Given the description of an element on the screen output the (x, y) to click on. 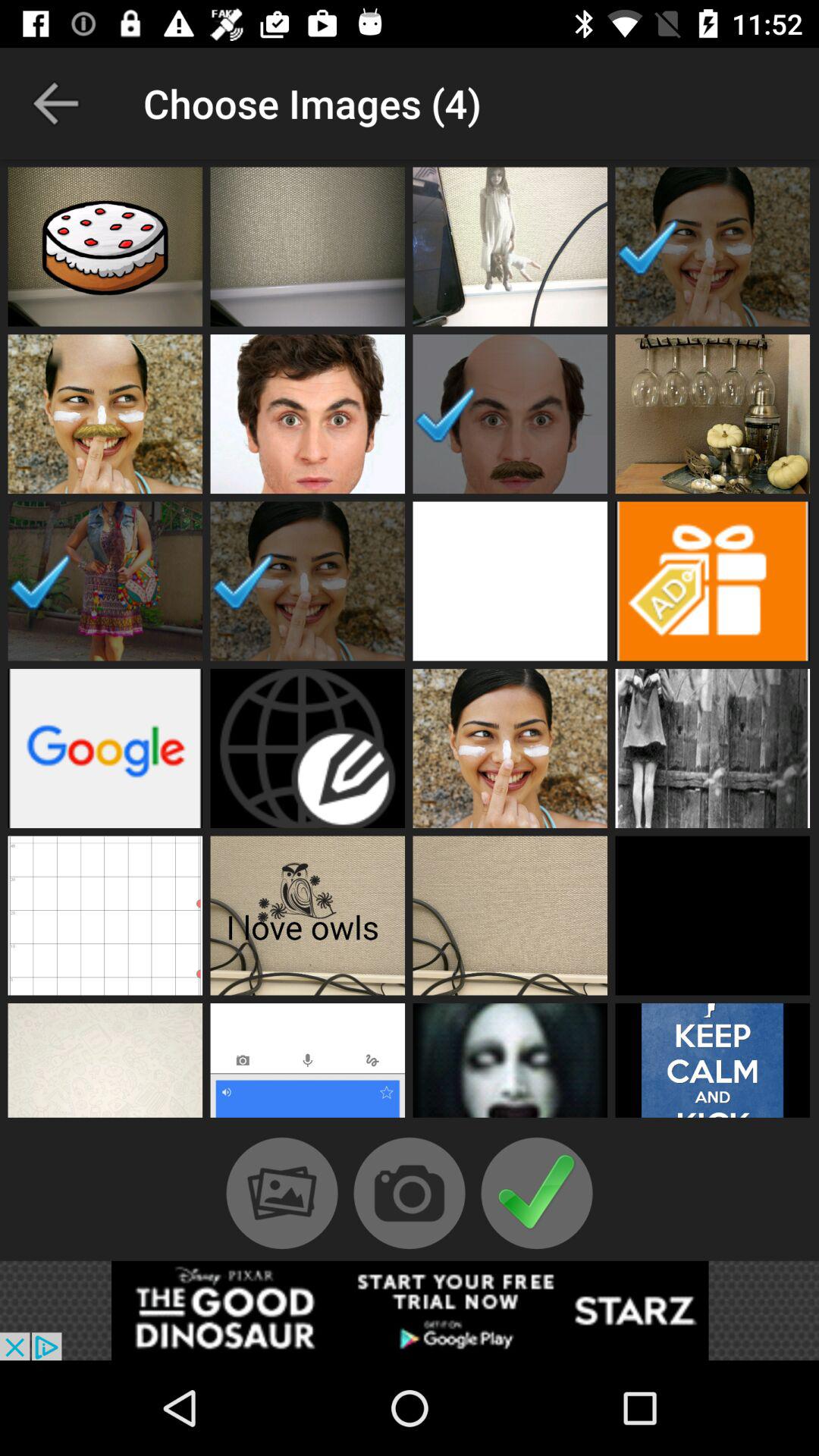
select advertisement (409, 1310)
